Given the description of an element on the screen output the (x, y) to click on. 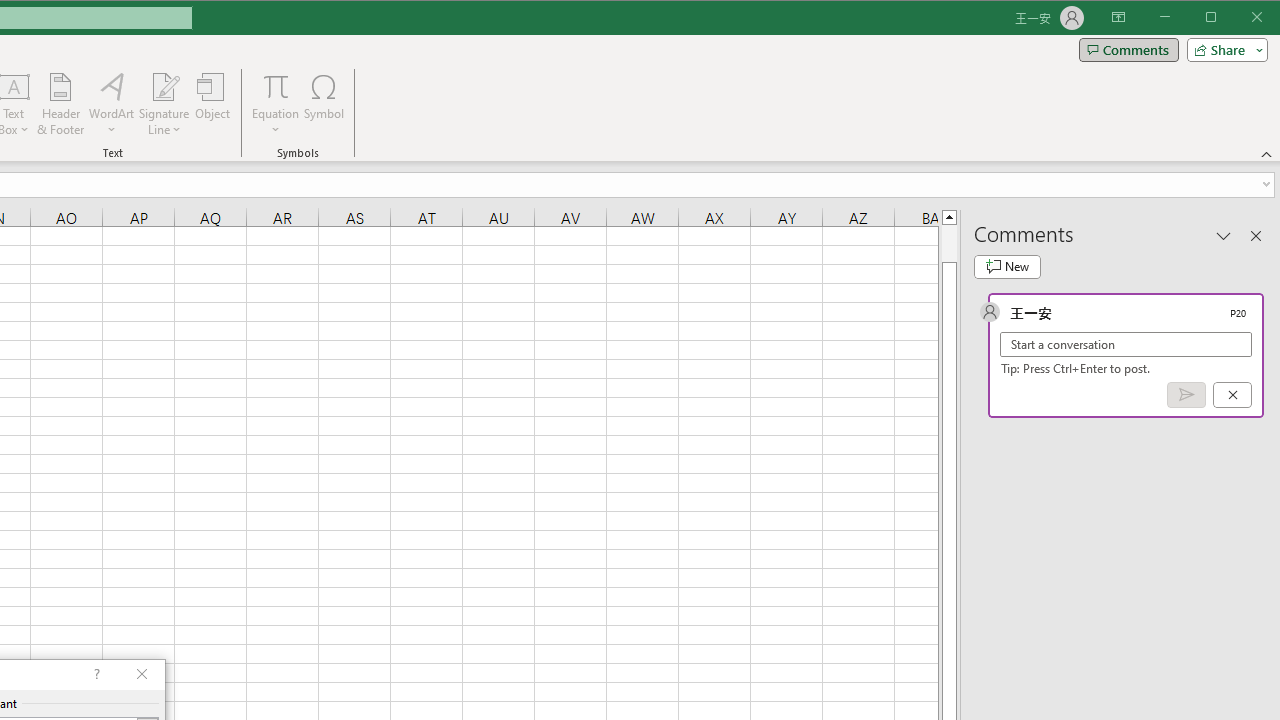
WordArt (111, 104)
New comment (1007, 266)
Symbol... (324, 104)
Start a conversation (1126, 344)
Post comment (Ctrl + Enter) (1186, 395)
Object... (213, 104)
